Given the description of an element on the screen output the (x, y) to click on. 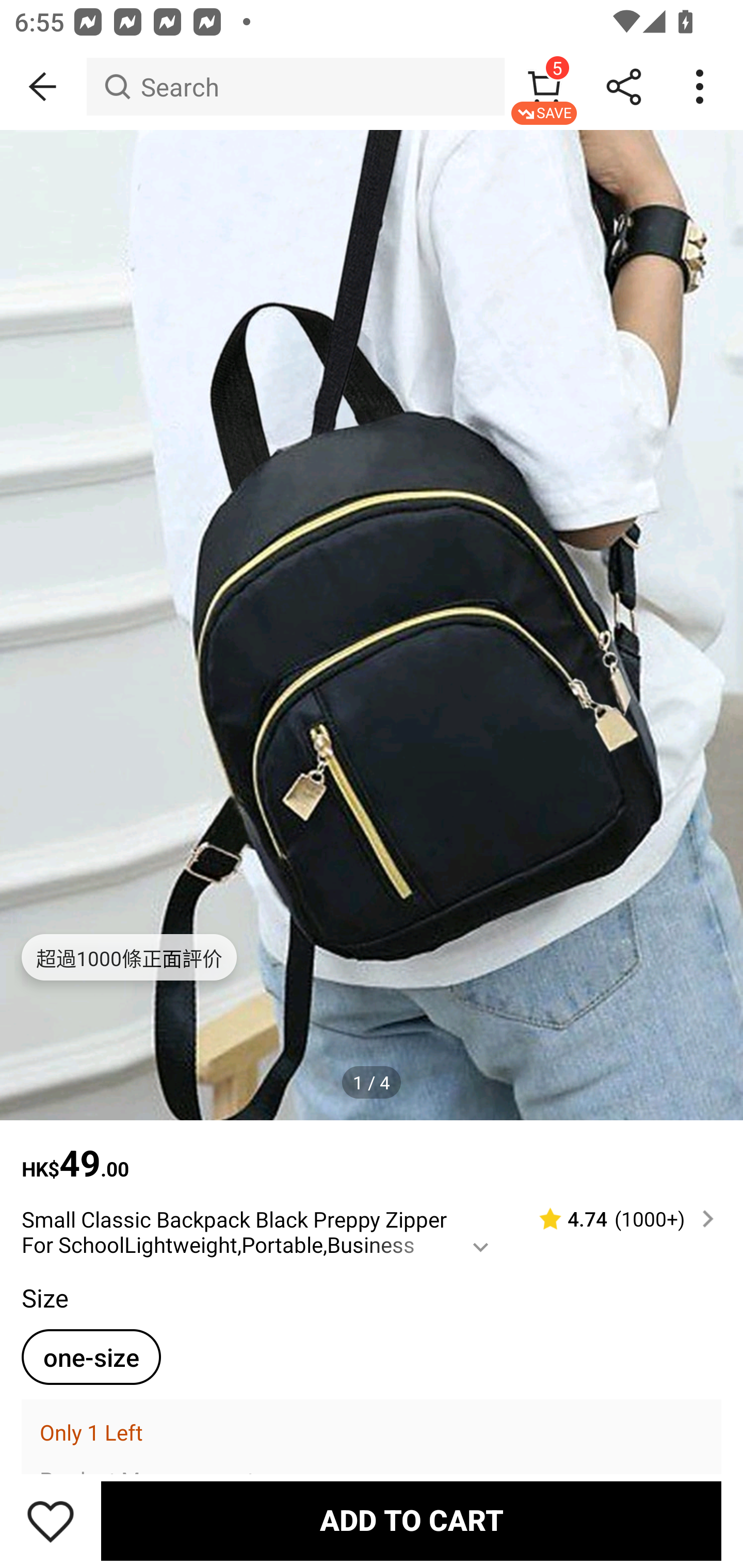
BACK (43, 86)
5 SAVE (543, 87)
Search (295, 87)
1 / 4 (371, 1082)
HK$49.00 (371, 1152)
4.74 (1000‎+) (617, 1219)
Size (44, 1297)
one-size one-sizeselected option (91, 1356)
ADD TO CART (411, 1520)
Save (50, 1520)
